Given the description of an element on the screen output the (x, y) to click on. 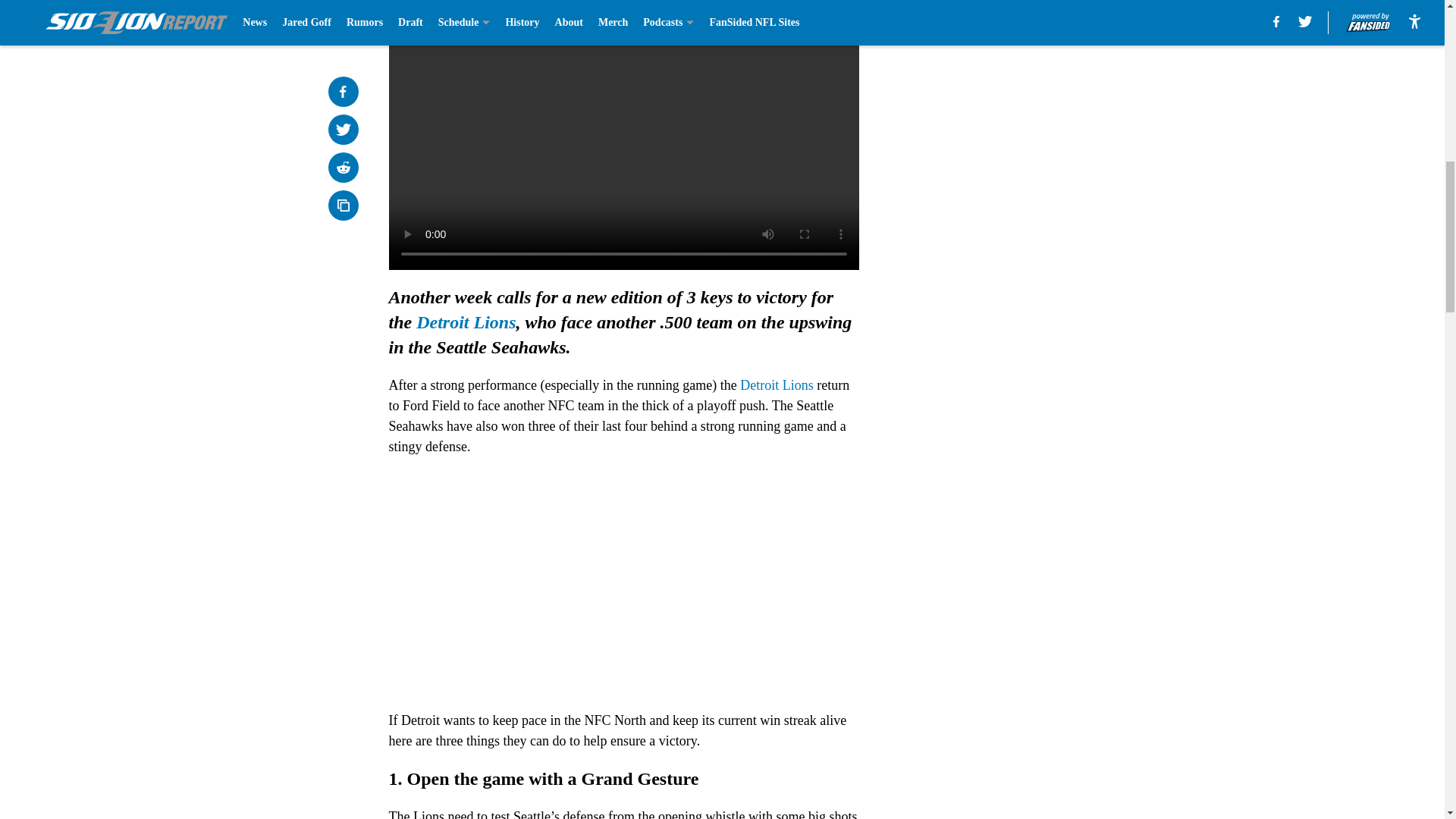
3rd party ad content (1047, 320)
Detroit Lions (776, 385)
3rd party ad content (1047, 100)
Detroit Lions (465, 322)
